Given the description of an element on the screen output the (x, y) to click on. 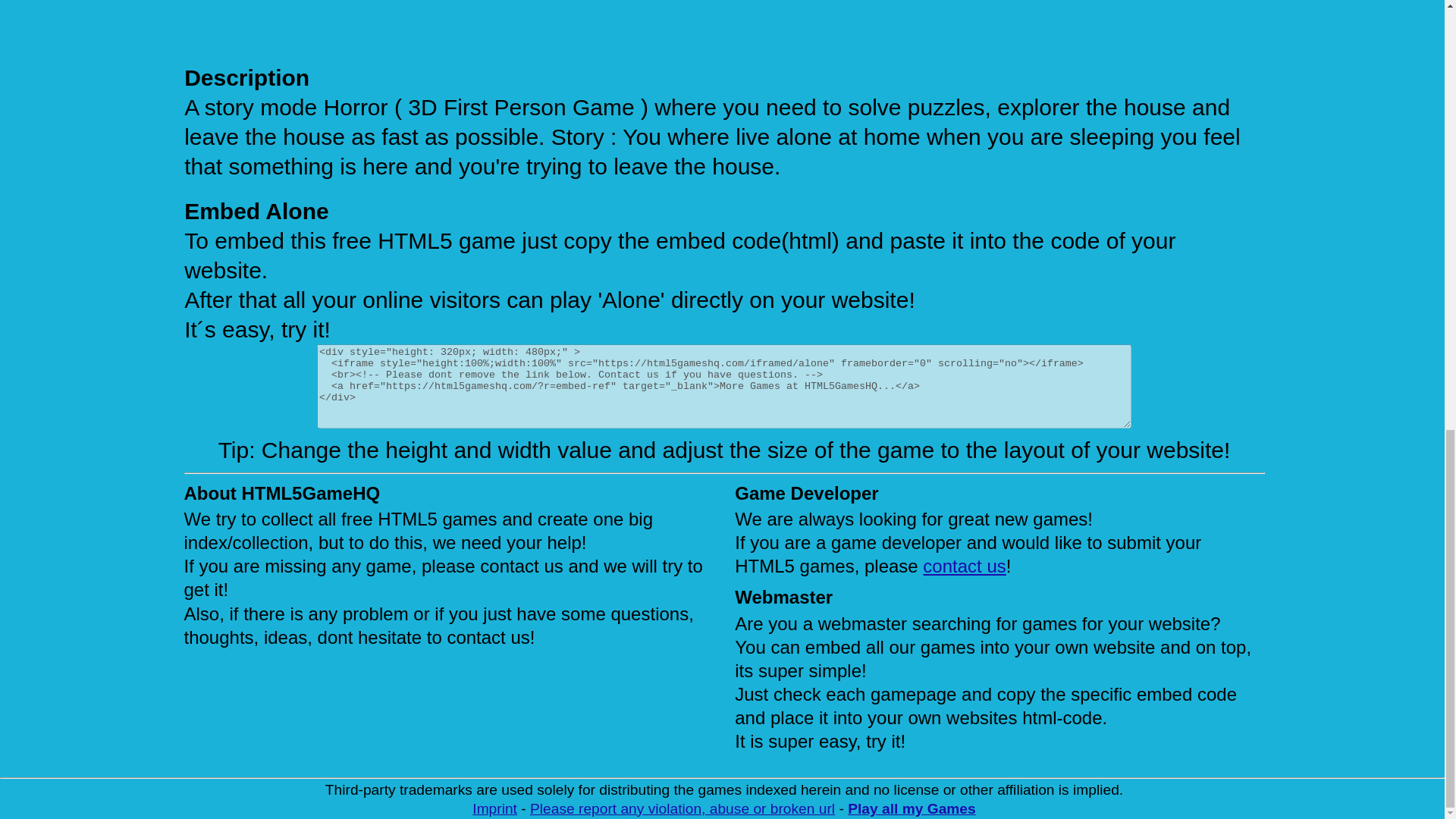
Imprint (493, 808)
Please report any violation, abuse or broken url (681, 808)
contact us (964, 566)
Play all my Games (911, 808)
